Given the description of an element on the screen output the (x, y) to click on. 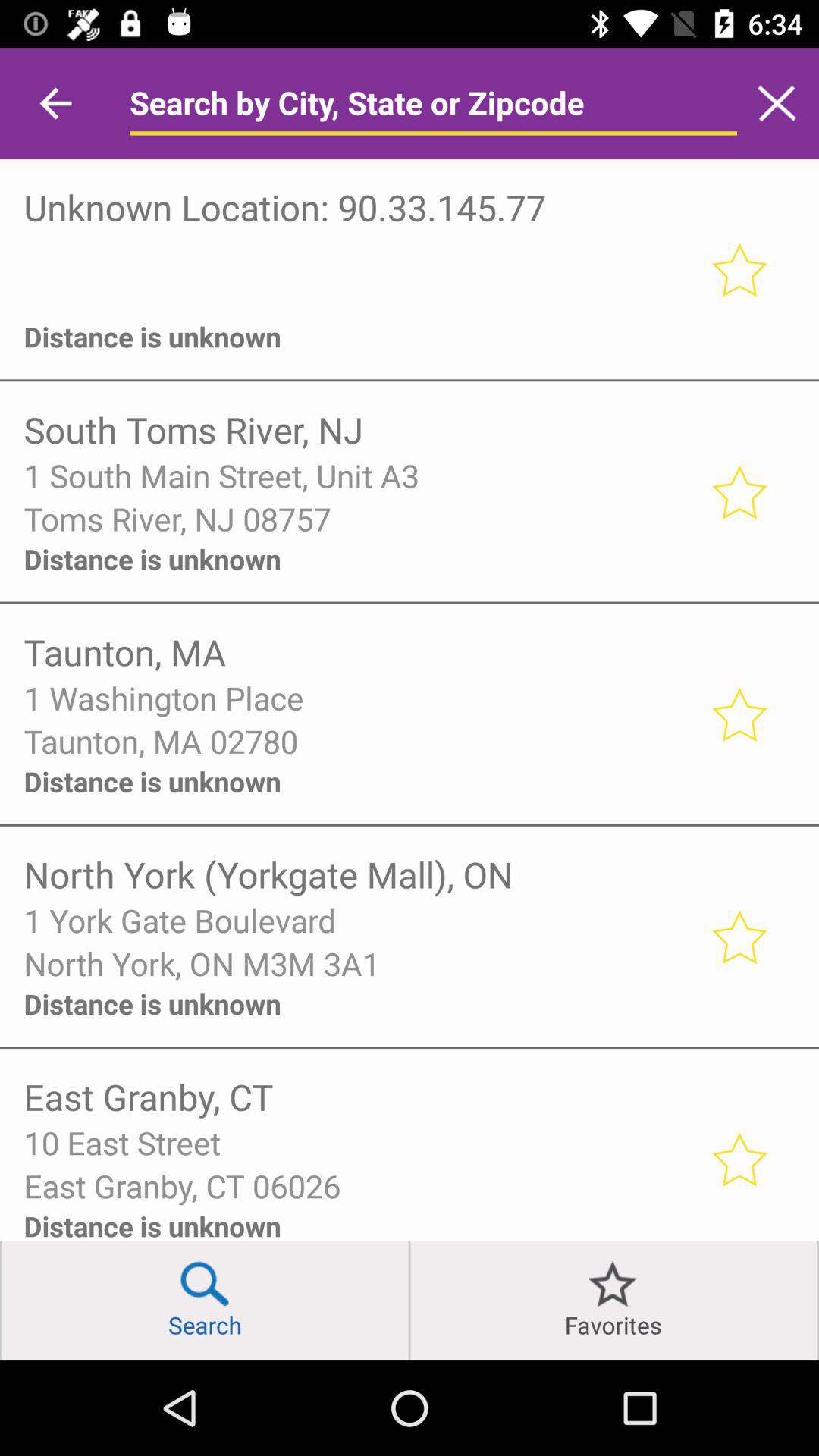
close search screen (776, 103)
